Given the description of an element on the screen output the (x, y) to click on. 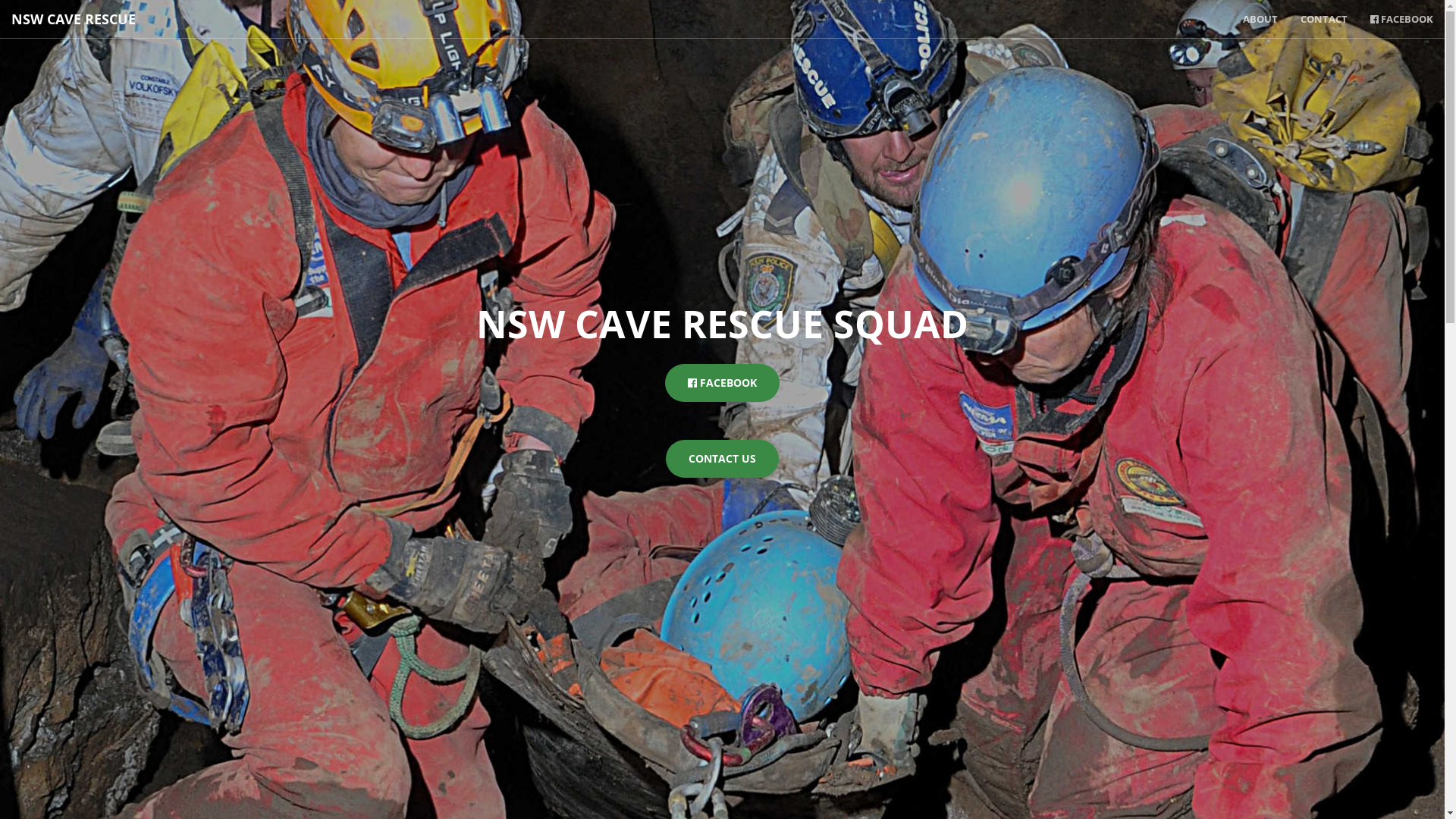
FACEBOOK Element type: text (722, 382)
NSW CAVE RESCUE Element type: text (73, 18)
CONTACT US Element type: text (721, 458)
FACEBOOK Element type: text (1401, 18)
CONTACT Element type: text (1323, 18)
ABOUT Element type: text (1260, 18)
